Given the description of an element on the screen output the (x, y) to click on. 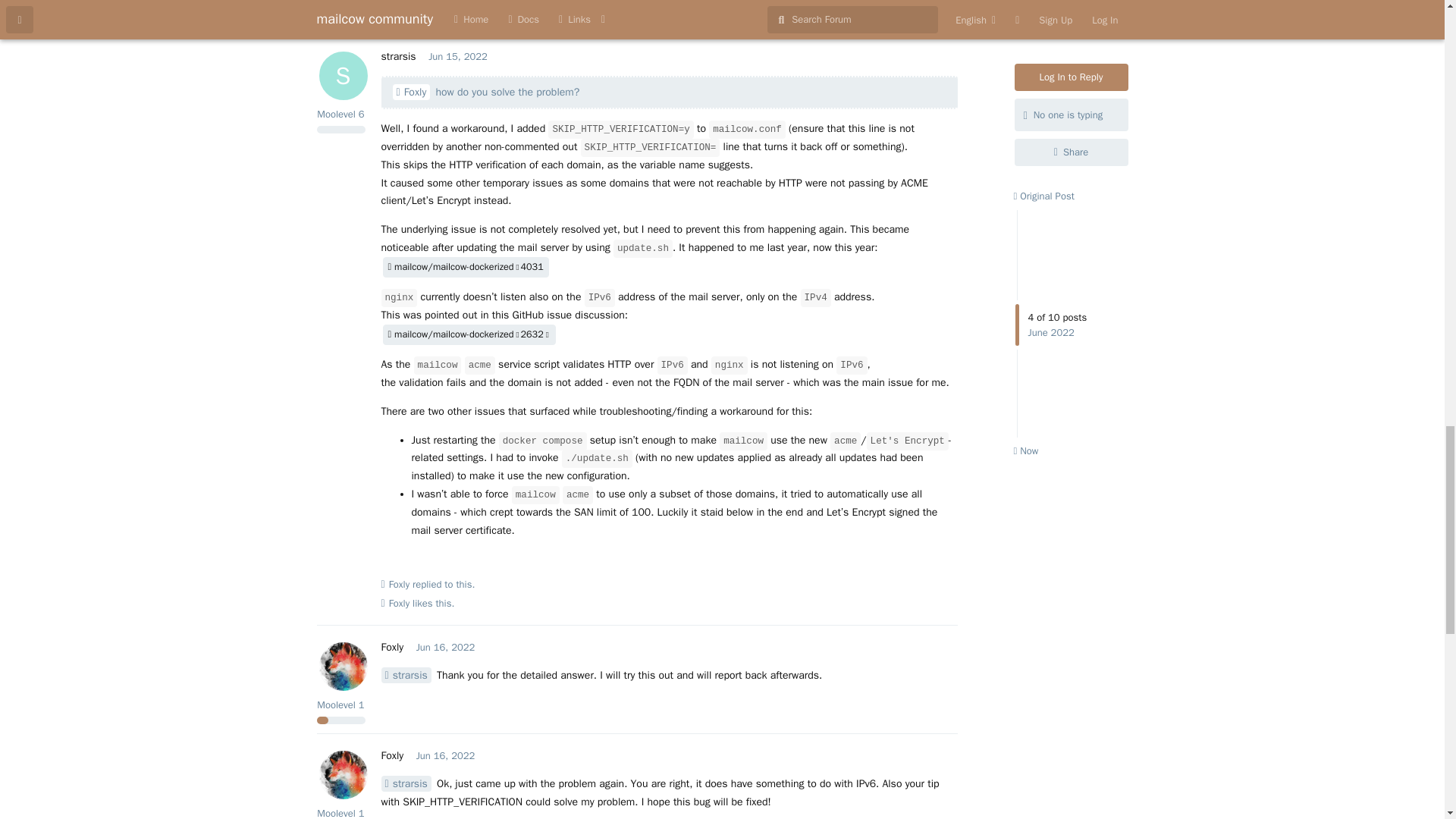
Wednesday, June 15, 2022 9:40 PM (457, 56)
Thursday, June 16, 2022 12:03 AM (446, 646)
